Given the description of an element on the screen output the (x, y) to click on. 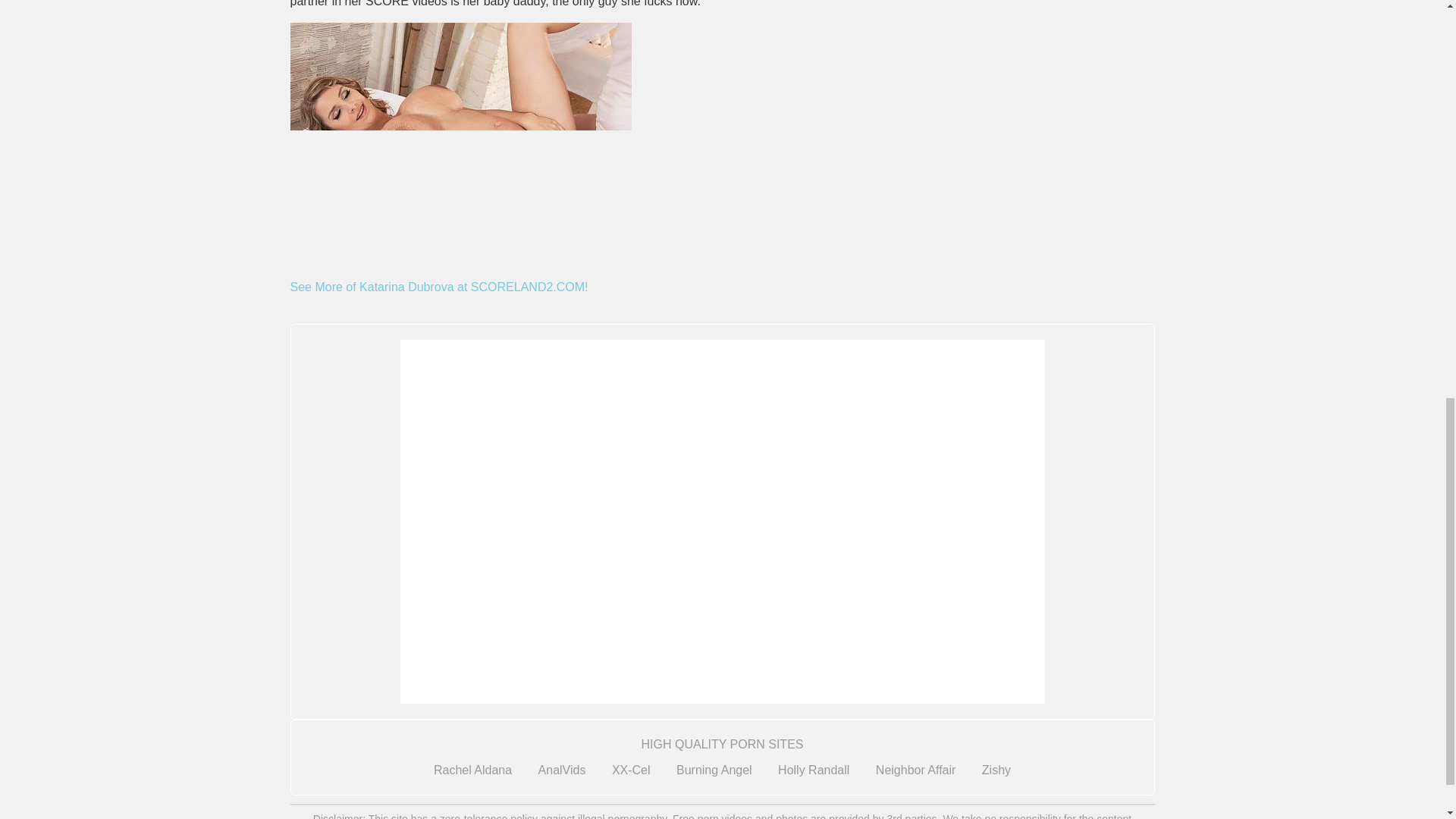
Neighbor Affair (915, 773)
XX-Cel (631, 773)
Pregnant sex (459, 150)
AnalVids (562, 773)
AnalVids Recommended Extreme Porn Videos (562, 773)
Rachel Aldana (472, 773)
Burning Angel (714, 773)
See More of Katarina Dubrova at SCORELAND2.COM! (438, 286)
Holly Randall (813, 773)
